Given the description of an element on the screen output the (x, y) to click on. 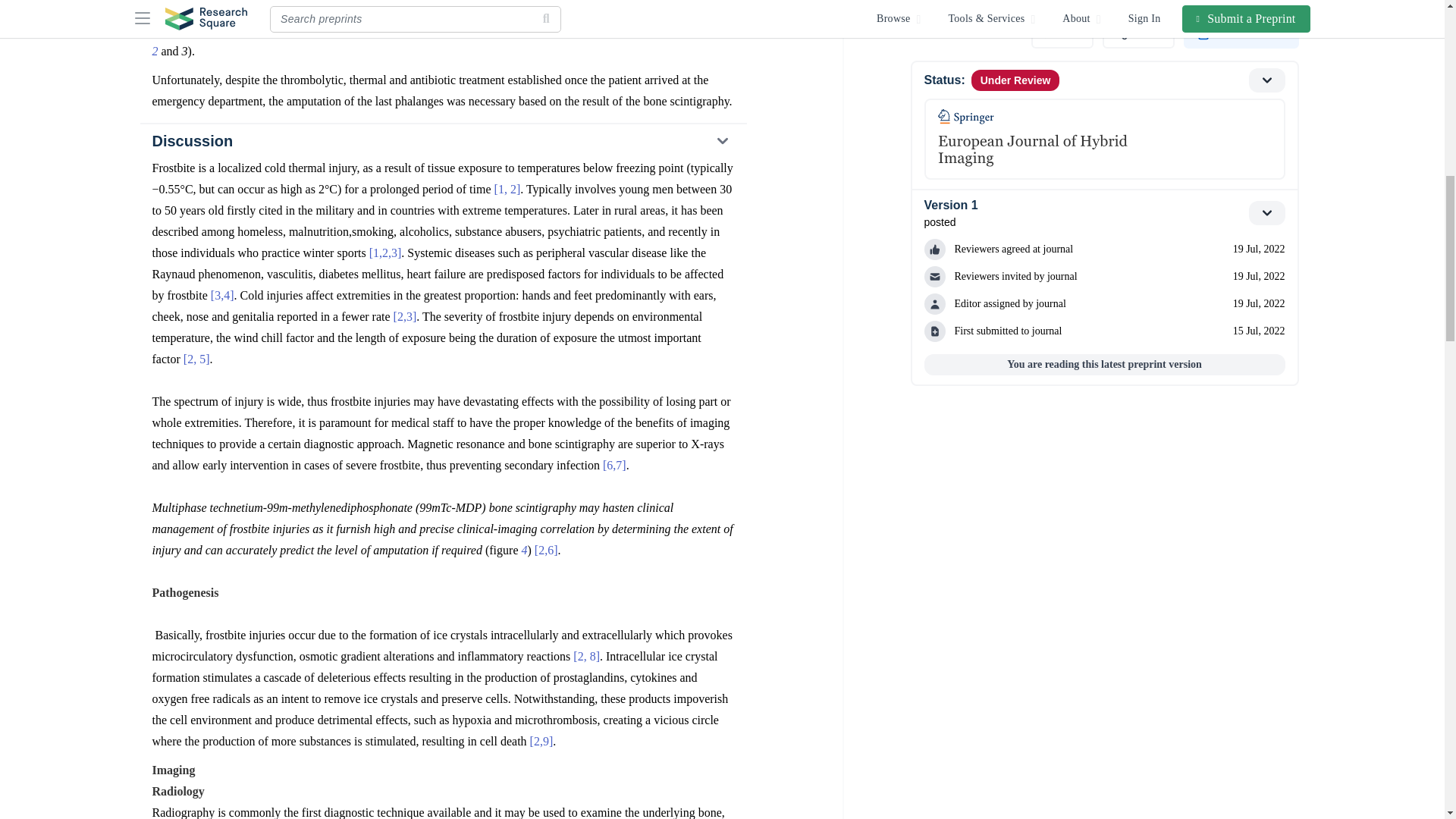
Discussion (442, 141)
